Given the description of an element on the screen output the (x, y) to click on. 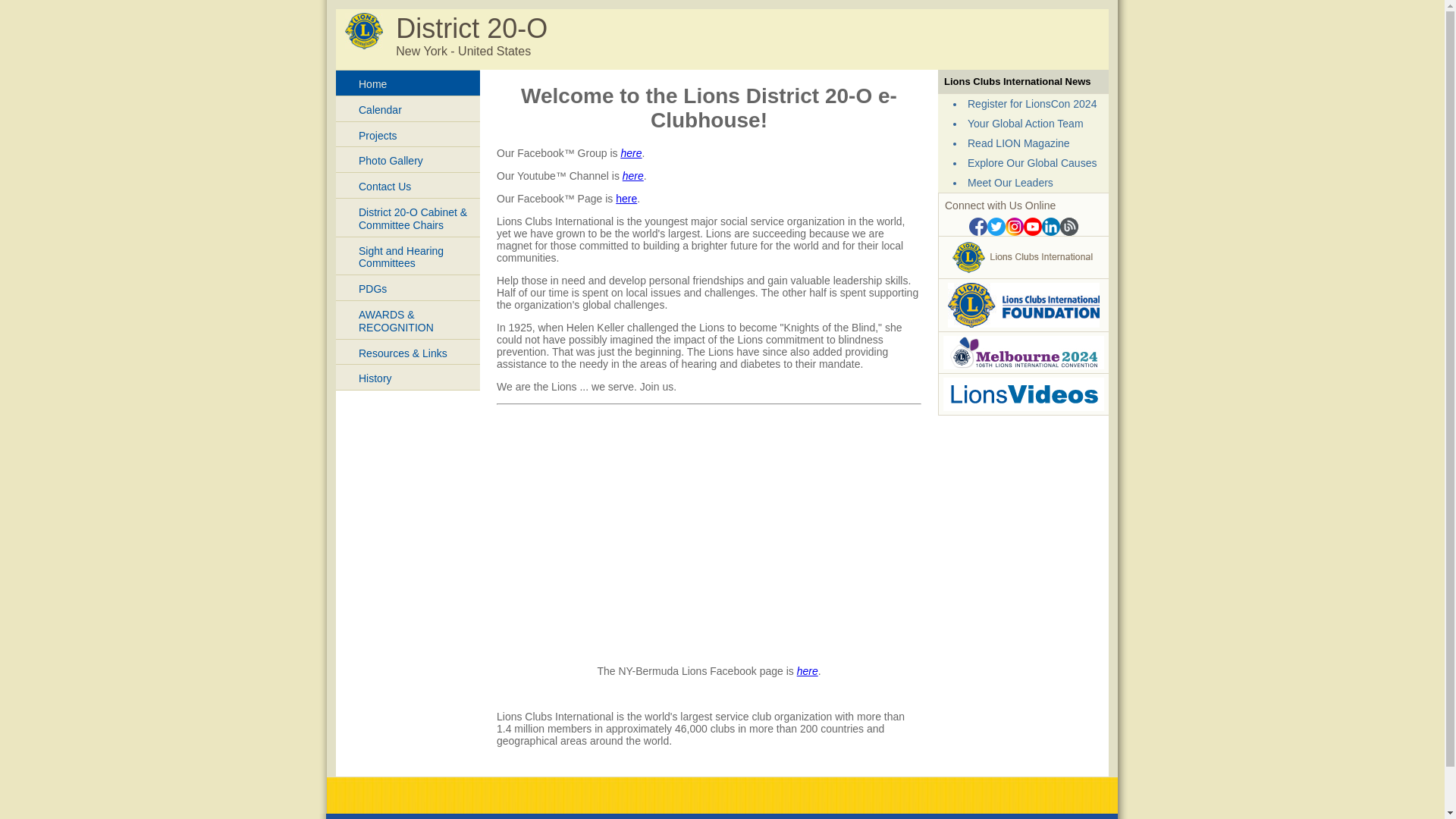
Meet Our Leaders Element type: text (1010, 182)
Photo Gallery Element type: text (407, 159)
Calendar Element type: text (407, 108)
here Element type: text (807, 670)
PDGs Element type: text (407, 287)
Your Global Action Team Element type: text (1025, 123)
Home Element type: text (407, 82)
Read LION Magazine Element type: text (1018, 143)
AWARDS & RECOGNITION Element type: text (407, 319)
Explore Our Global Causes Element type: text (1031, 162)
District 20-O Cabinet & Committee Chairs Element type: text (407, 217)
Resources & Links Element type: text (407, 351)
here Element type: text (630, 153)
History Element type: text (407, 376)
Sight and Hearing Committees Element type: text (407, 256)
Register for LionsCon 2024 Element type: text (1031, 103)
Projects Element type: text (407, 134)
here Element type: text (626, 198)
here Element type: text (632, 175)
Contact Us Element type: text (407, 184)
